Given the description of an element on the screen output the (x, y) to click on. 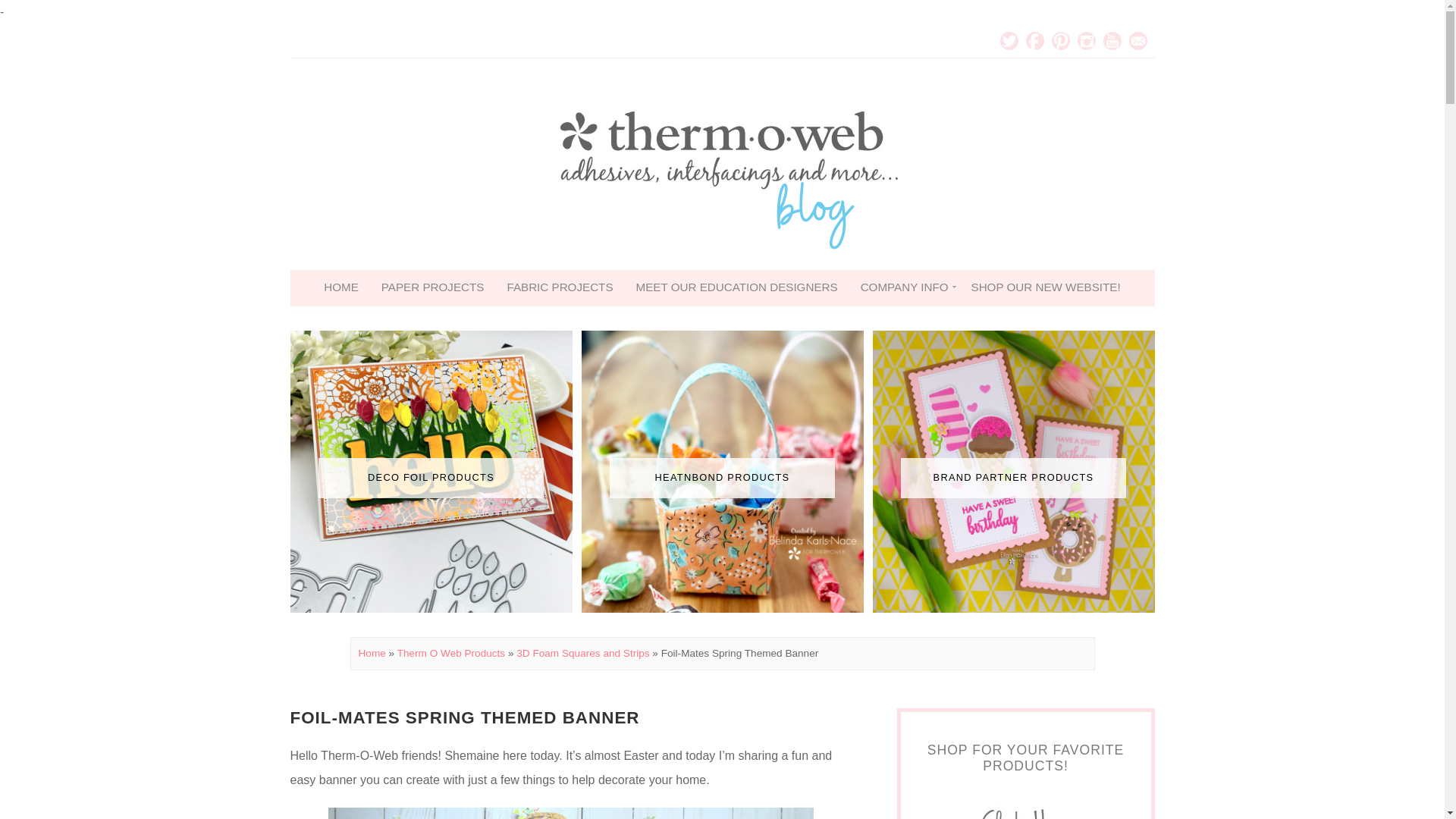
SHOP OUR NEW WEBSITE! (1045, 286)
Facebook (1034, 40)
Pinterest (1059, 40)
Instagram (1085, 40)
COMPANY INFO (903, 286)
Home (371, 653)
FOIL-MATES SPRING THEMED BANNER (464, 717)
MEET OUR EDUCATION DESIGNERS (736, 286)
HOME (341, 286)
YouTube (1111, 40)
3D Foam Squares and Strips (582, 653)
PAPER PROJECTS (432, 286)
Email (1137, 40)
Twitter (1007, 40)
